Given the description of an element on the screen output the (x, y) to click on. 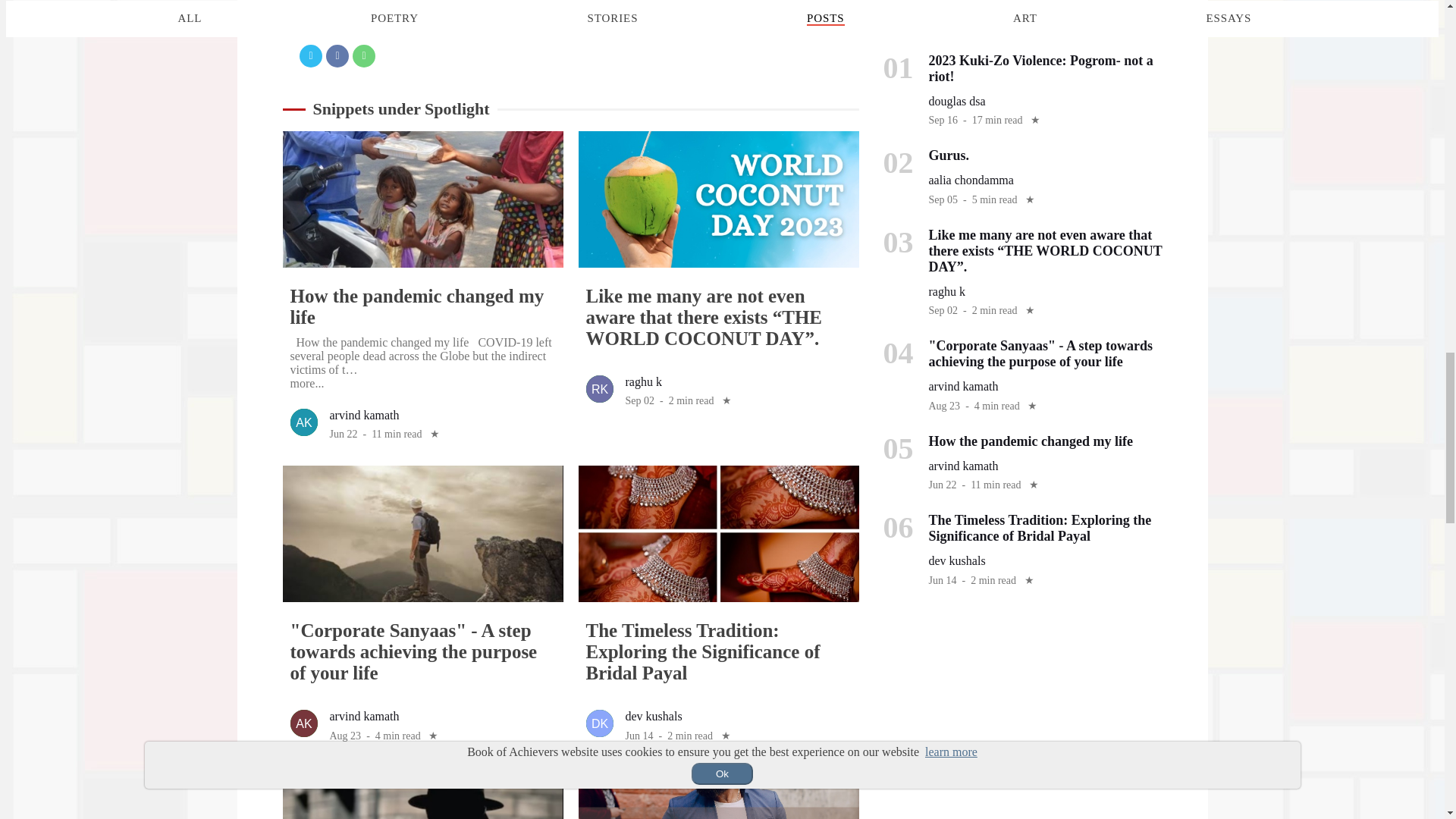
Share on Facebook (337, 56)
Posts by dev kushals (652, 716)
Posts by arvind kamath (363, 716)
Posts by arvind kamath (363, 414)
Share on Whatsapp (363, 56)
Posts by raghu k (642, 381)
Share on Twitter (310, 56)
